Given the description of an element on the screen output the (x, y) to click on. 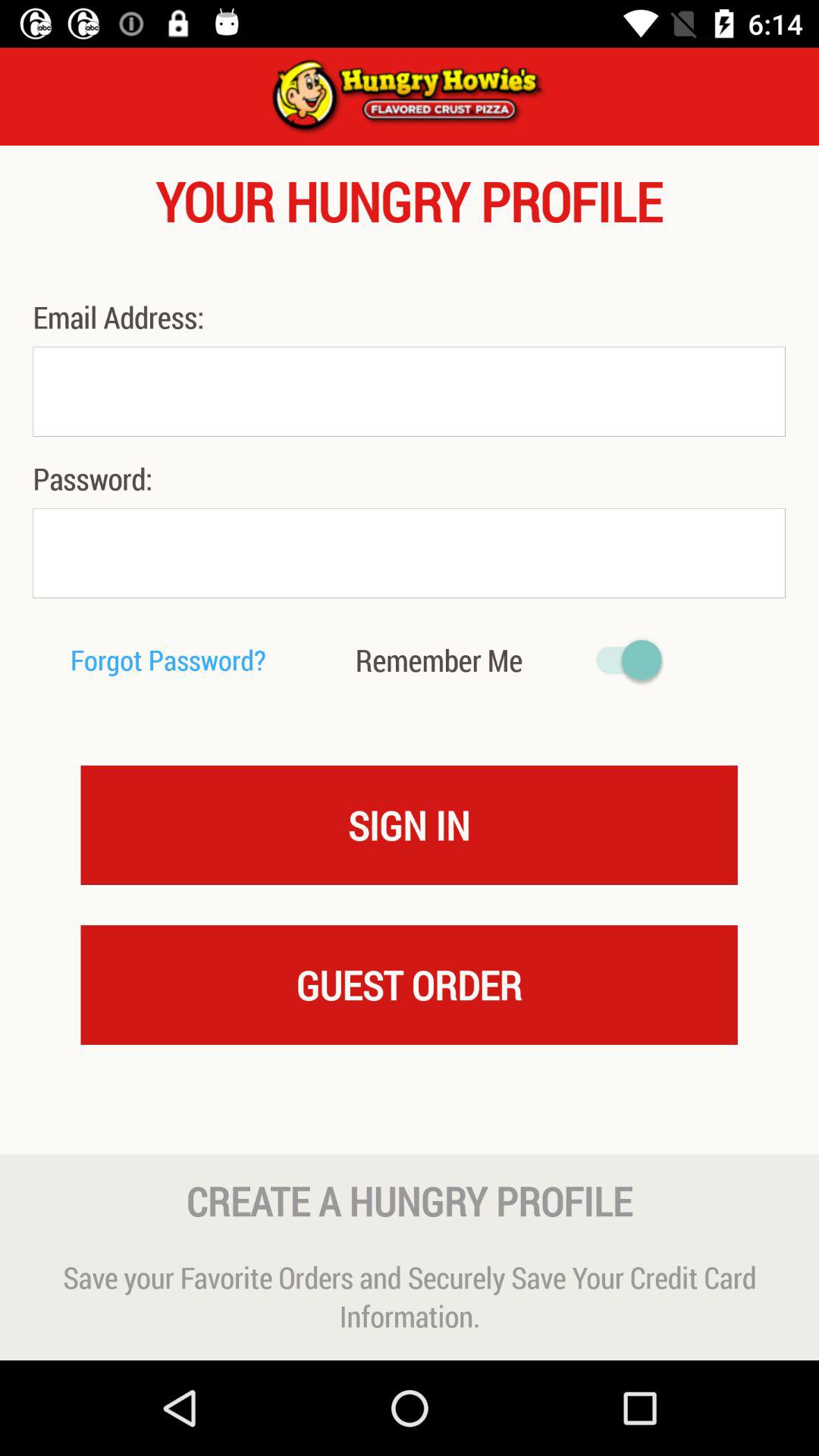
select the icon below create a hungry (409, 1296)
